Given the description of an element on the screen output the (x, y) to click on. 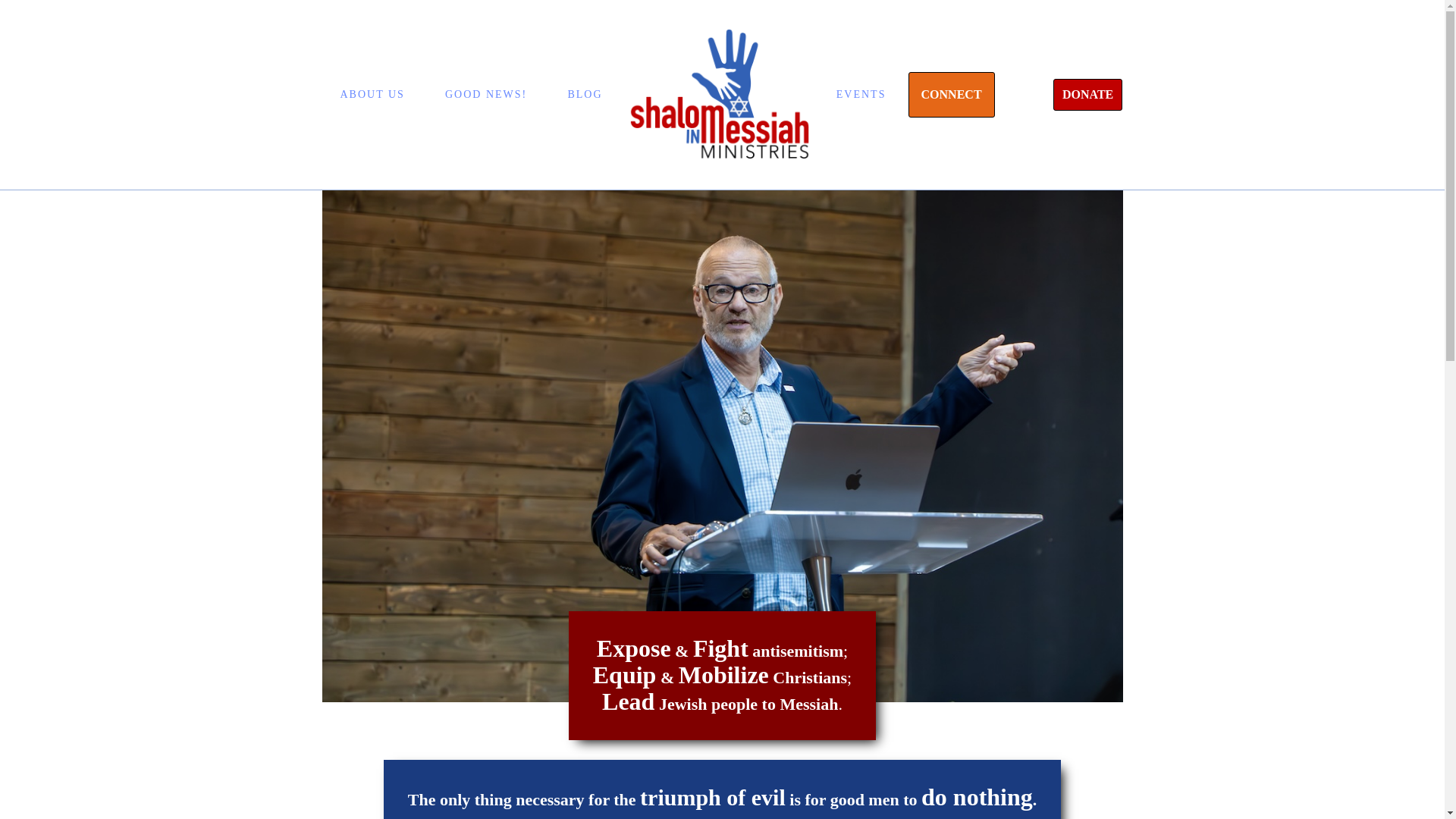
EVENTS (861, 93)
ABOUT US (371, 93)
CONNECT (951, 94)
GOOD NEWS! (485, 93)
BLOG (584, 93)
DONATE (1087, 94)
